Given the description of an element on the screen output the (x, y) to click on. 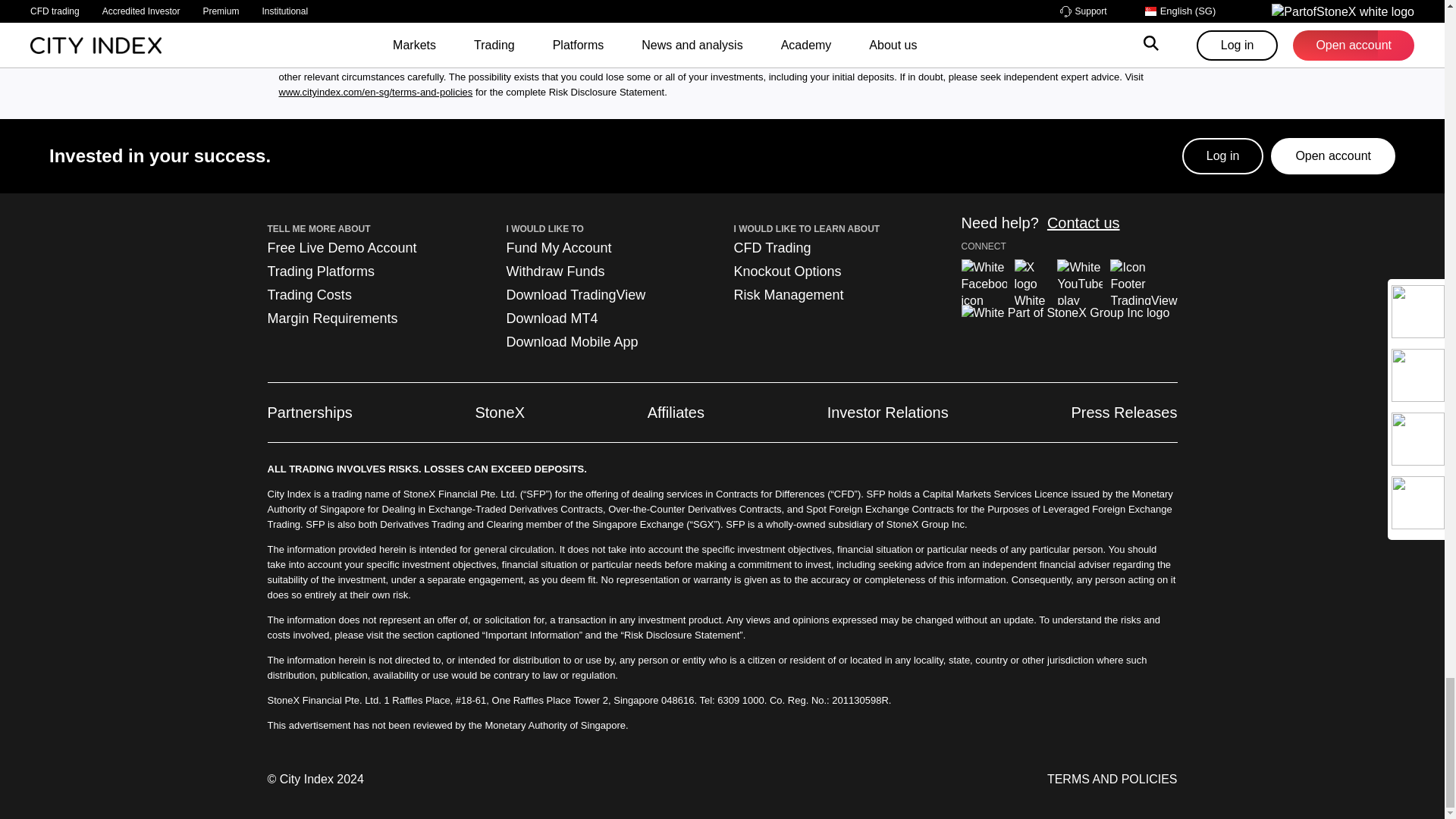
YouTube (1079, 281)
Facebook (983, 281)
